Given the description of an element on the screen output the (x, y) to click on. 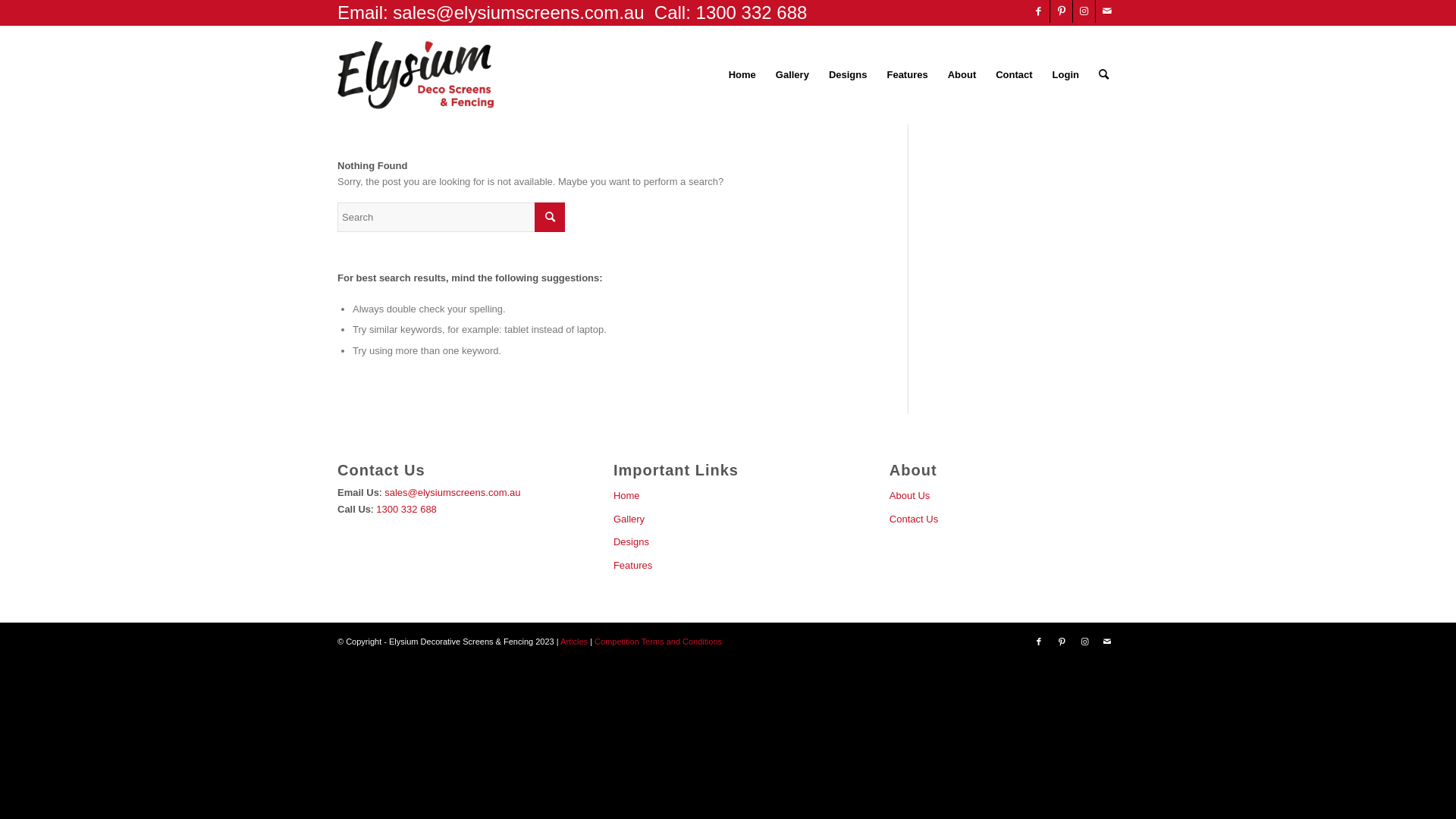
About Us Element type: text (1003, 495)
Contact Us Element type: text (1003, 519)
Features Element type: text (727, 565)
Home Element type: text (727, 495)
Pinterest Element type: hover (1061, 641)
Pinterest Element type: hover (1061, 11)
1300 332 688 Element type: text (751, 12)
Instagram Element type: hover (1084, 641)
Mail Element type: hover (1106, 11)
Designs Element type: text (848, 74)
About Element type: text (962, 74)
Mail Element type: hover (1106, 641)
Instagram Element type: hover (1084, 11)
Contact Element type: text (1013, 74)
Features Element type: text (906, 74)
1300 332 688 Element type: text (406, 508)
Home Element type: text (741, 74)
Facebook Element type: hover (1038, 641)
Gallery Element type: text (792, 74)
sales@elysiumscreens.com.au Element type: text (452, 492)
Designs Element type: text (727, 541)
Gallery Element type: text (727, 519)
Competition Terms and Conditions Element type: text (657, 641)
Login Element type: text (1065, 74)
Articles Element type: text (573, 641)
Facebook Element type: hover (1038, 11)
sales@elysiumscreens.com.au Element type: text (517, 12)
